Given the description of an element on the screen output the (x, y) to click on. 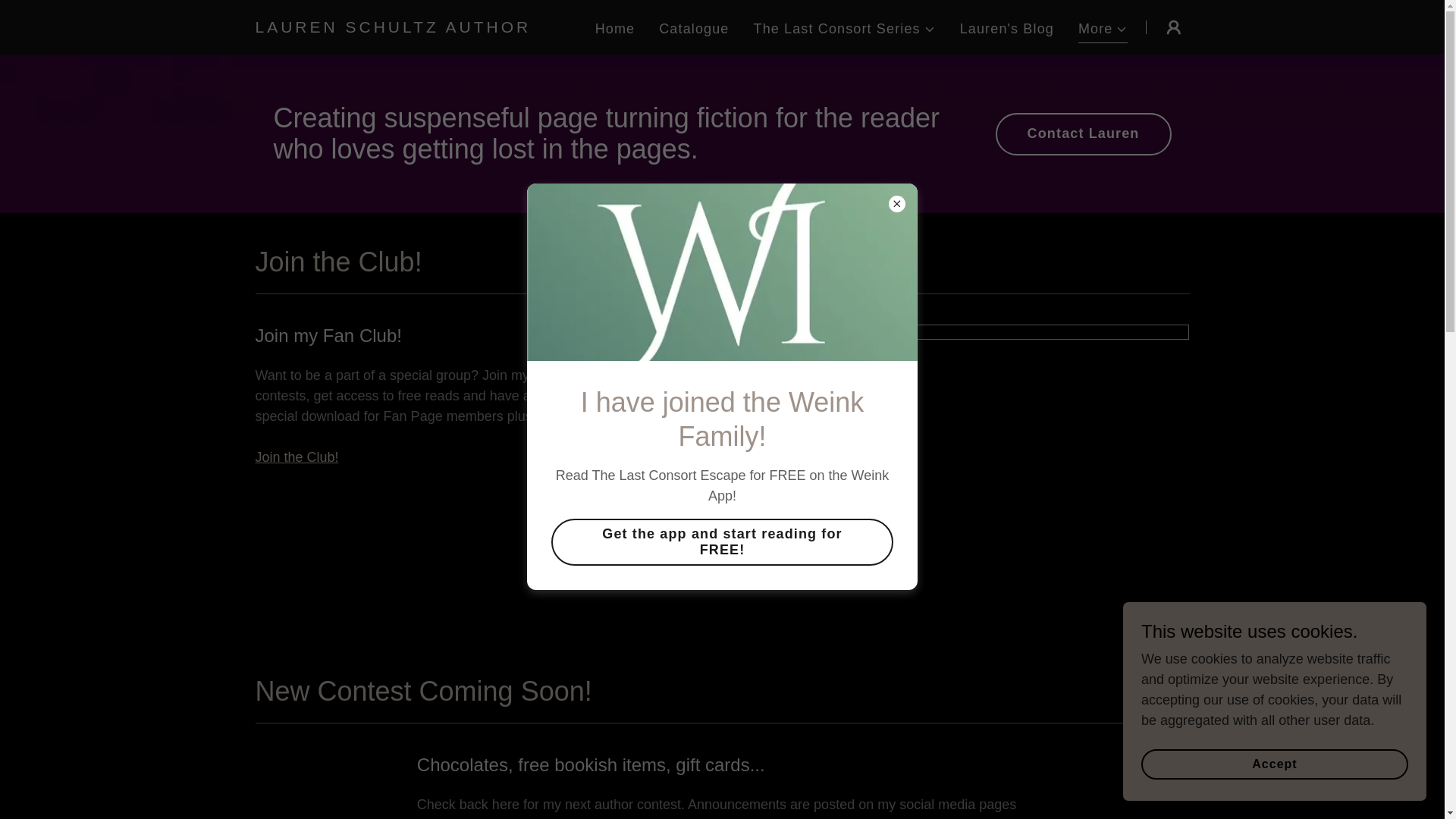
LAUREN SCHULTZ AUTHOR (417, 28)
Lauren's Blog (1006, 29)
Catalogue (693, 29)
Lauren Schultz Author (417, 28)
Home (615, 29)
The Last Consort Series (845, 28)
More (1103, 30)
